Given the description of an element on the screen output the (x, y) to click on. 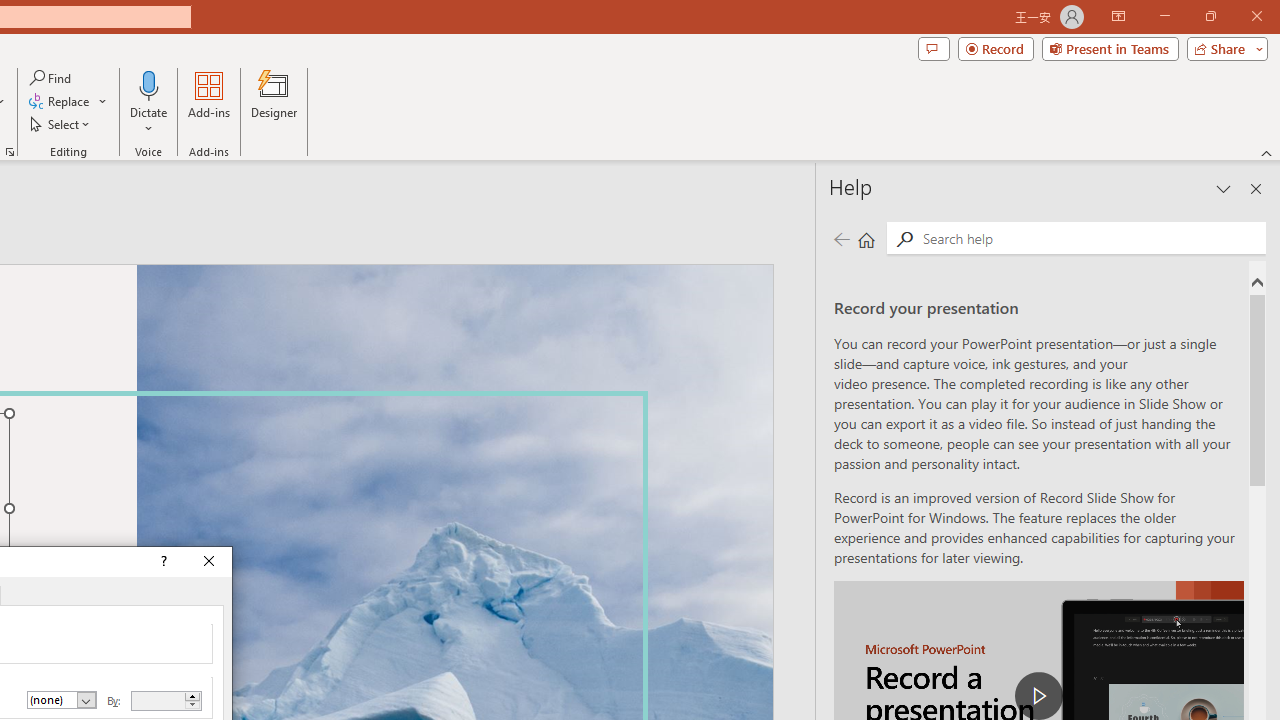
By (166, 701)
